Given the description of an element on the screen output the (x, y) to click on. 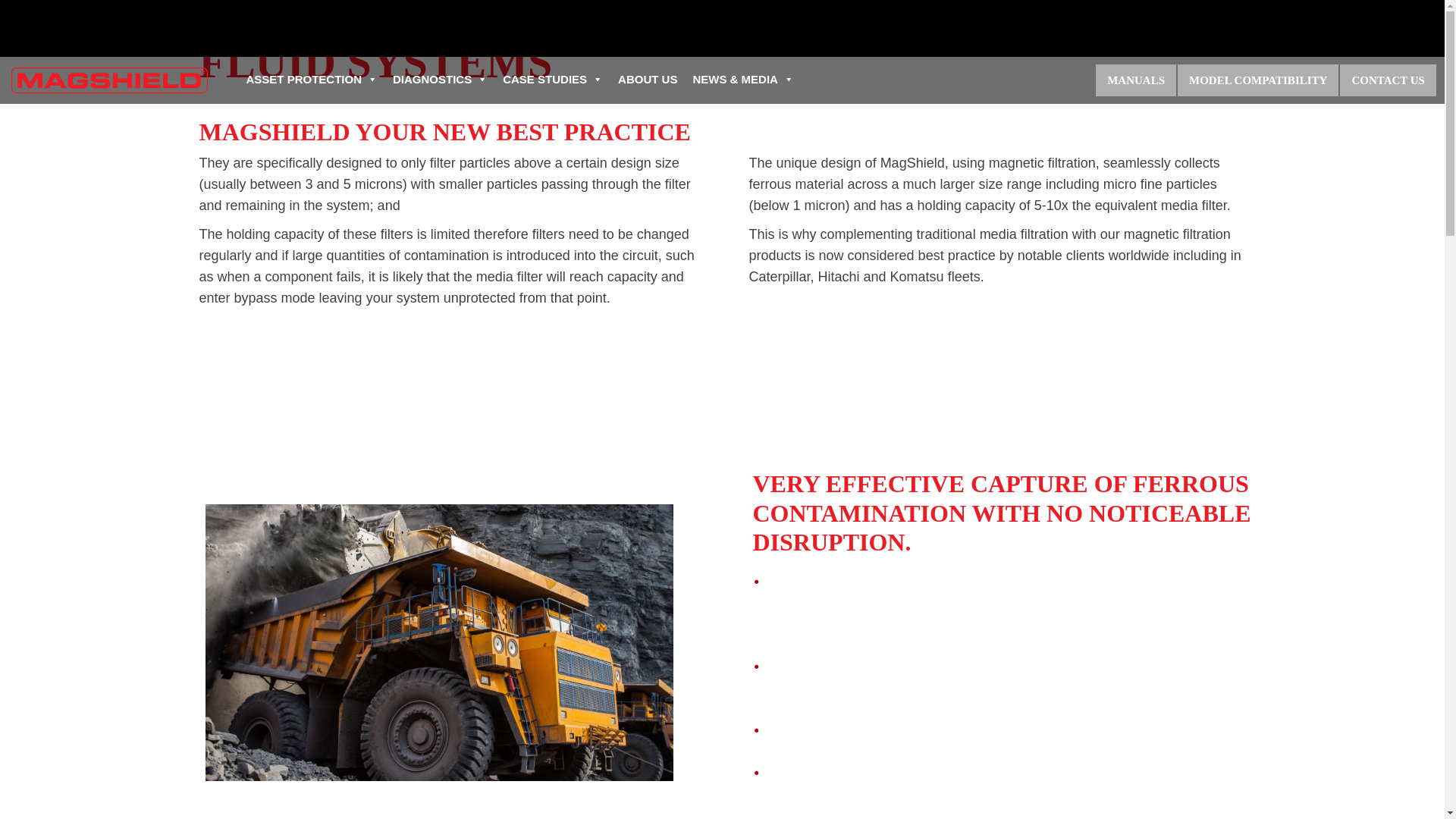
ASSET PROTECTION (311, 79)
MANUALS (1136, 80)
CASE STUDIES (552, 79)
ABOUT US (647, 79)
MODEL COMPATIBILITY (1257, 80)
CONTACT US (1387, 80)
DIAGNOSTICS (440, 79)
